Given the description of an element on the screen output the (x, y) to click on. 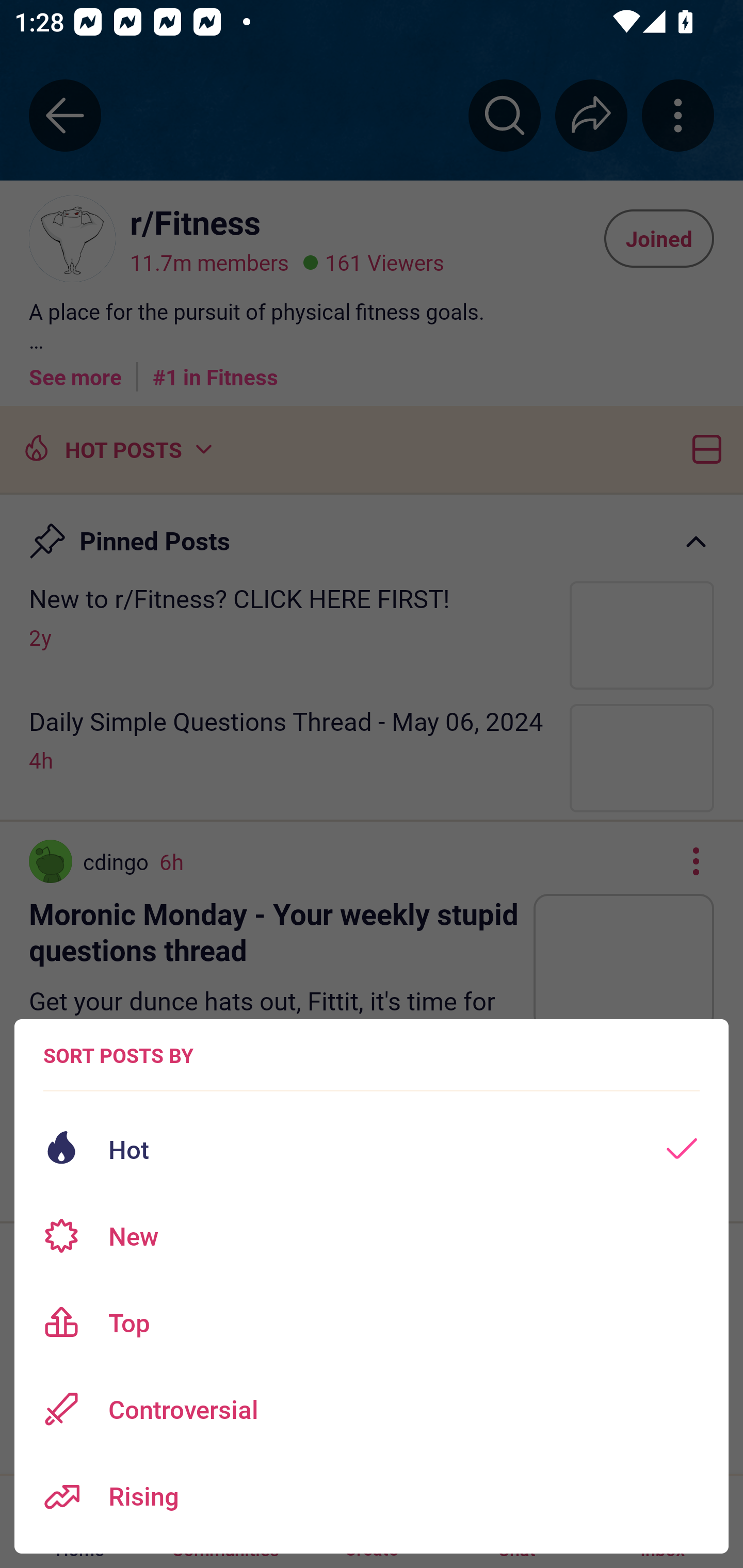
SORT POSTS BY Sort posts options (118, 1055)
Hot (371, 1149)
New (371, 1236)
Top (371, 1322)
Controversial (371, 1408)
Rising (371, 1495)
